Given the description of an element on the screen output the (x, y) to click on. 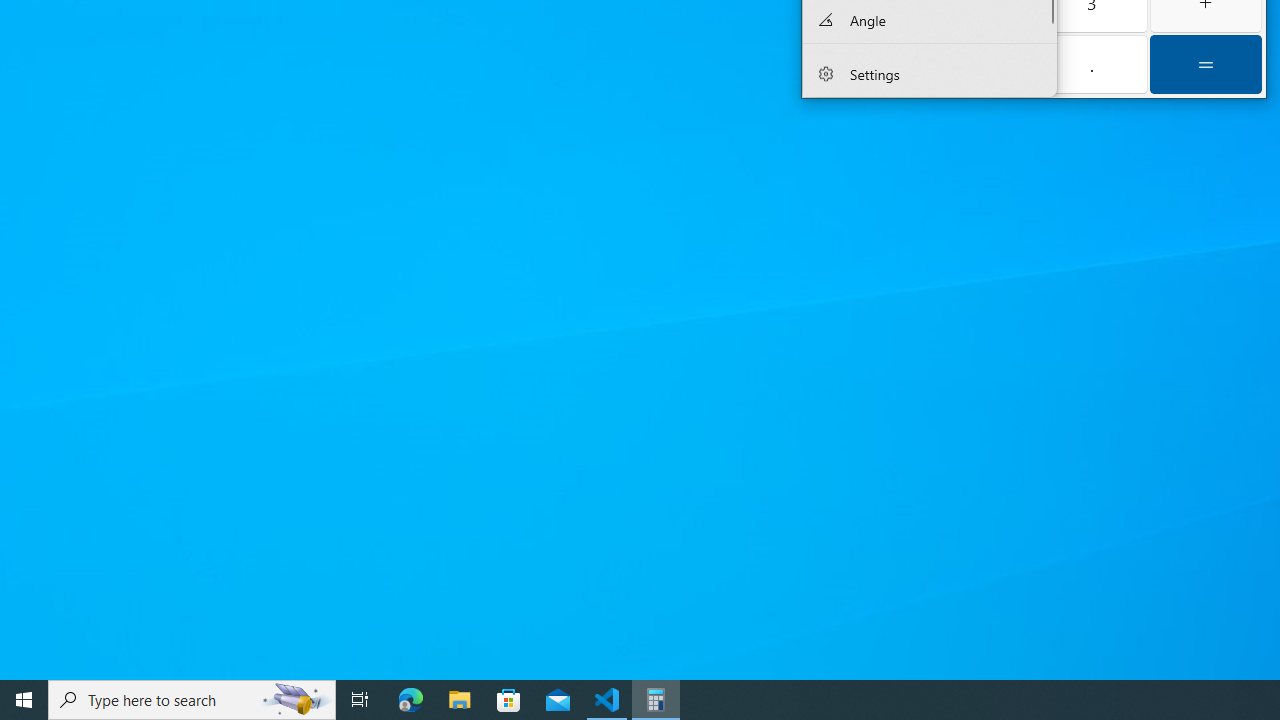
Visual Studio Code - 1 running window (607, 699)
Type here to search (191, 699)
